Given the description of an element on the screen output the (x, y) to click on. 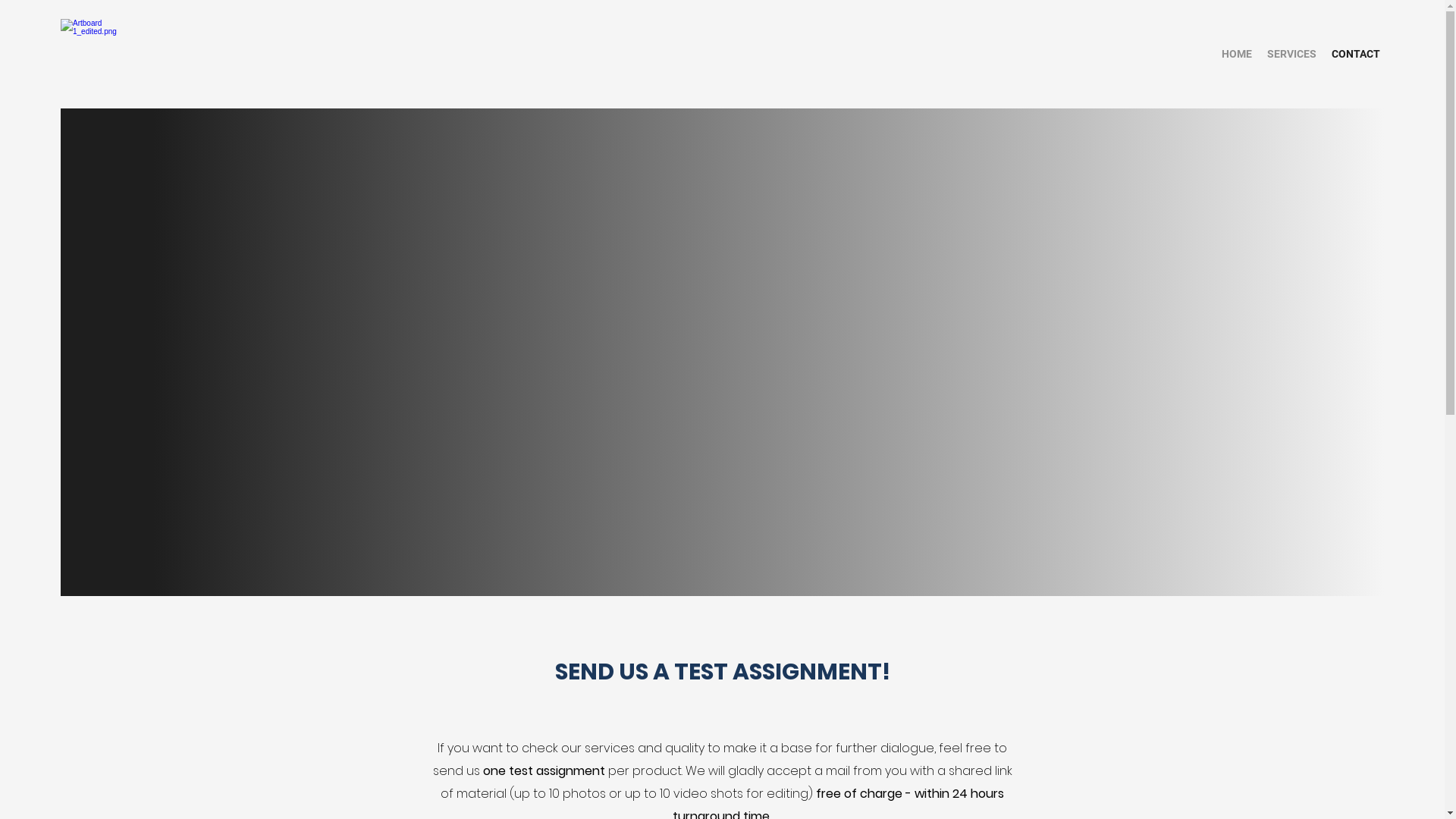
HOME Element type: text (1236, 53)
CONTACT Element type: text (1355, 53)
SERVICES Element type: text (1291, 53)
